Given the description of an element on the screen output the (x, y) to click on. 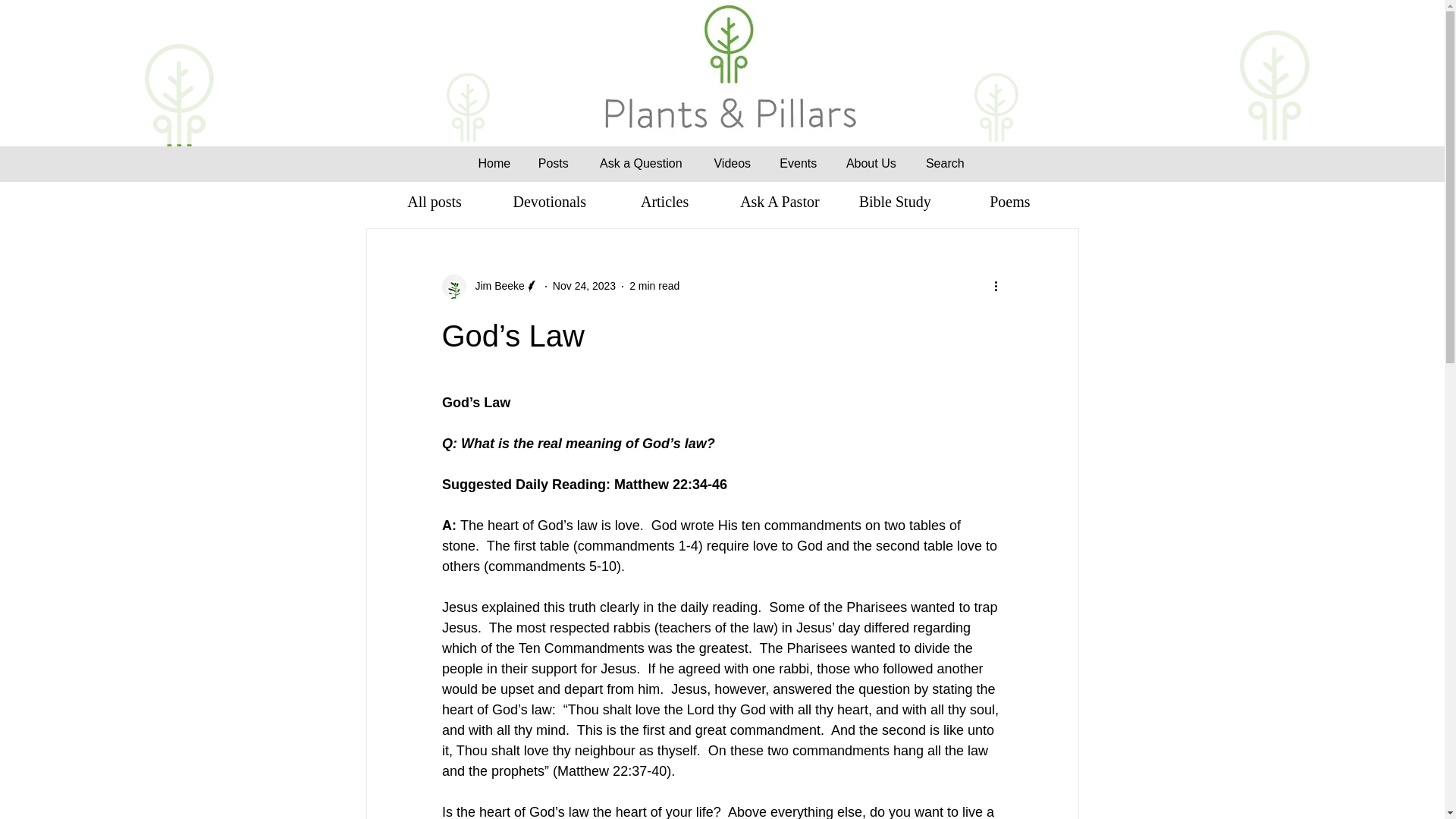
Events (798, 163)
Posts (553, 163)
Jim Beeke (494, 286)
Bible Study (895, 201)
Jim Beeke (489, 286)
Videos (731, 163)
All posts (434, 201)
Devotionals (549, 201)
Poems (1009, 201)
Articles (664, 201)
2 min read (653, 285)
Ask A Pastor (778, 201)
Home (494, 163)
Ask a Question (640, 163)
About Us (871, 163)
